Given the description of an element on the screen output the (x, y) to click on. 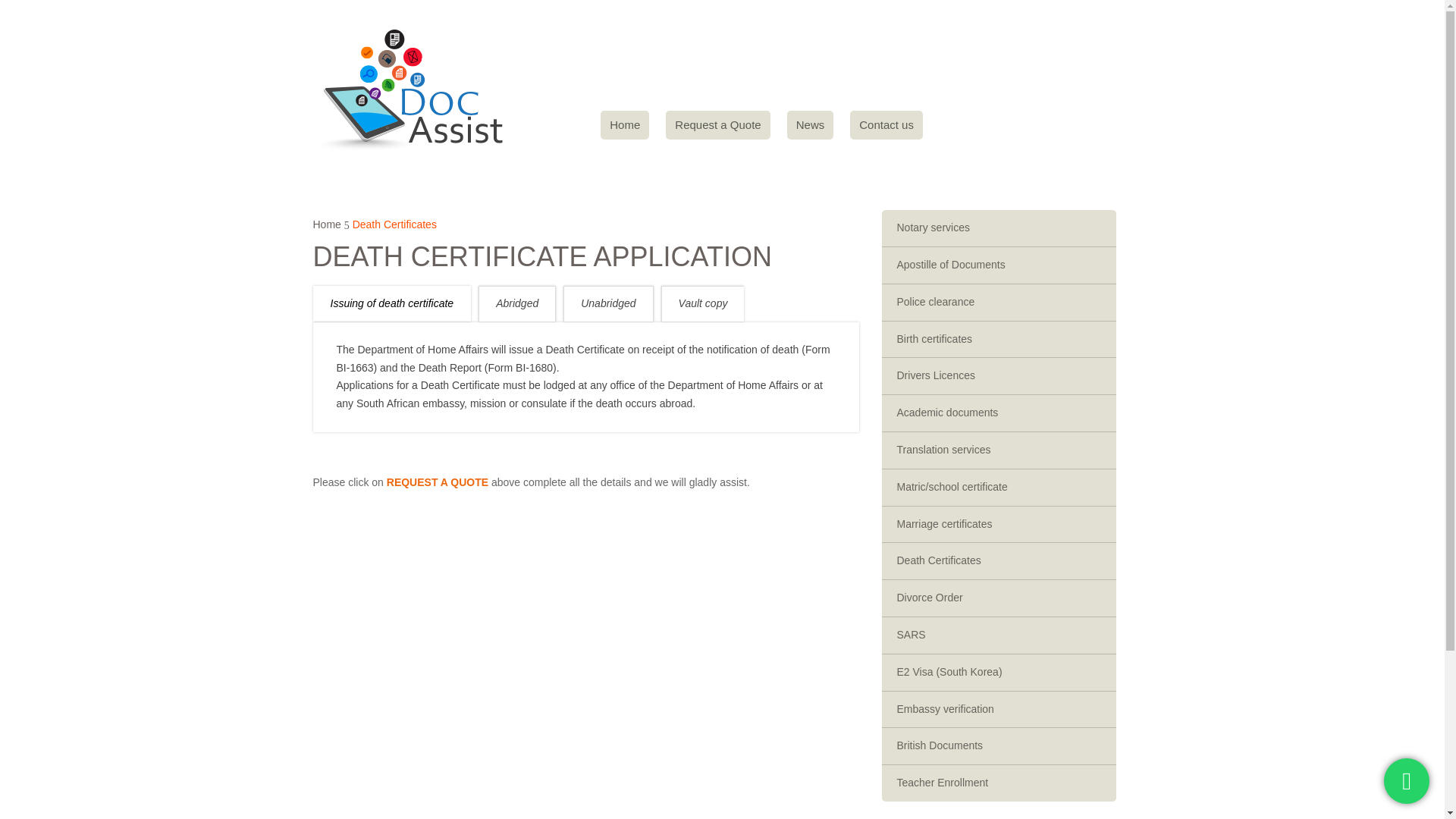
Unabridged (607, 303)
Vault copy (702, 303)
Abridged (517, 303)
Contact us (886, 124)
Home (326, 224)
Issuing of death certificate (391, 303)
Request a Quote (717, 124)
News (810, 124)
Home (624, 124)
